Given the description of an element on the screen output the (x, y) to click on. 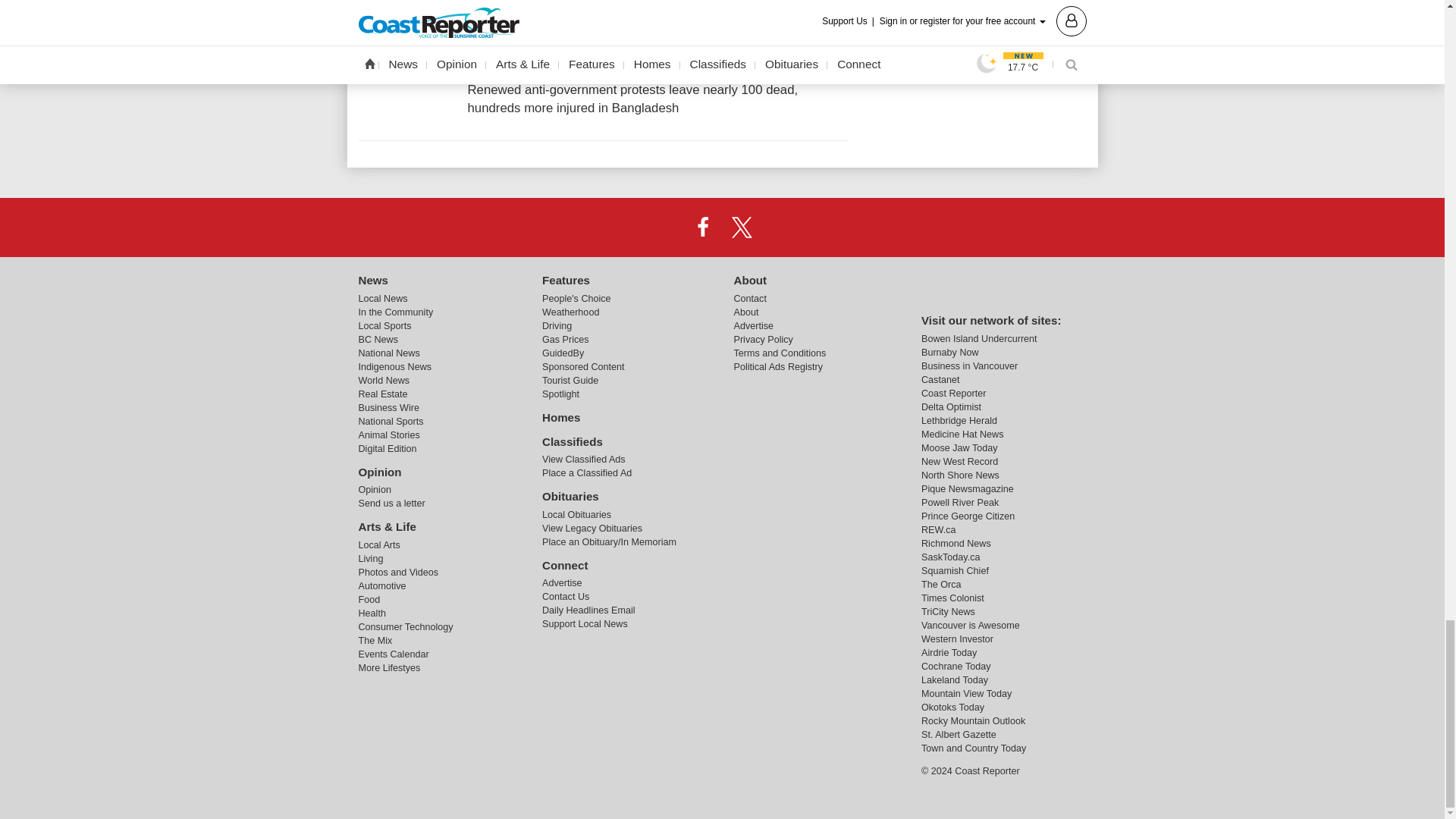
Facebook (702, 226)
X (741, 226)
